Given the description of an element on the screen output the (x, y) to click on. 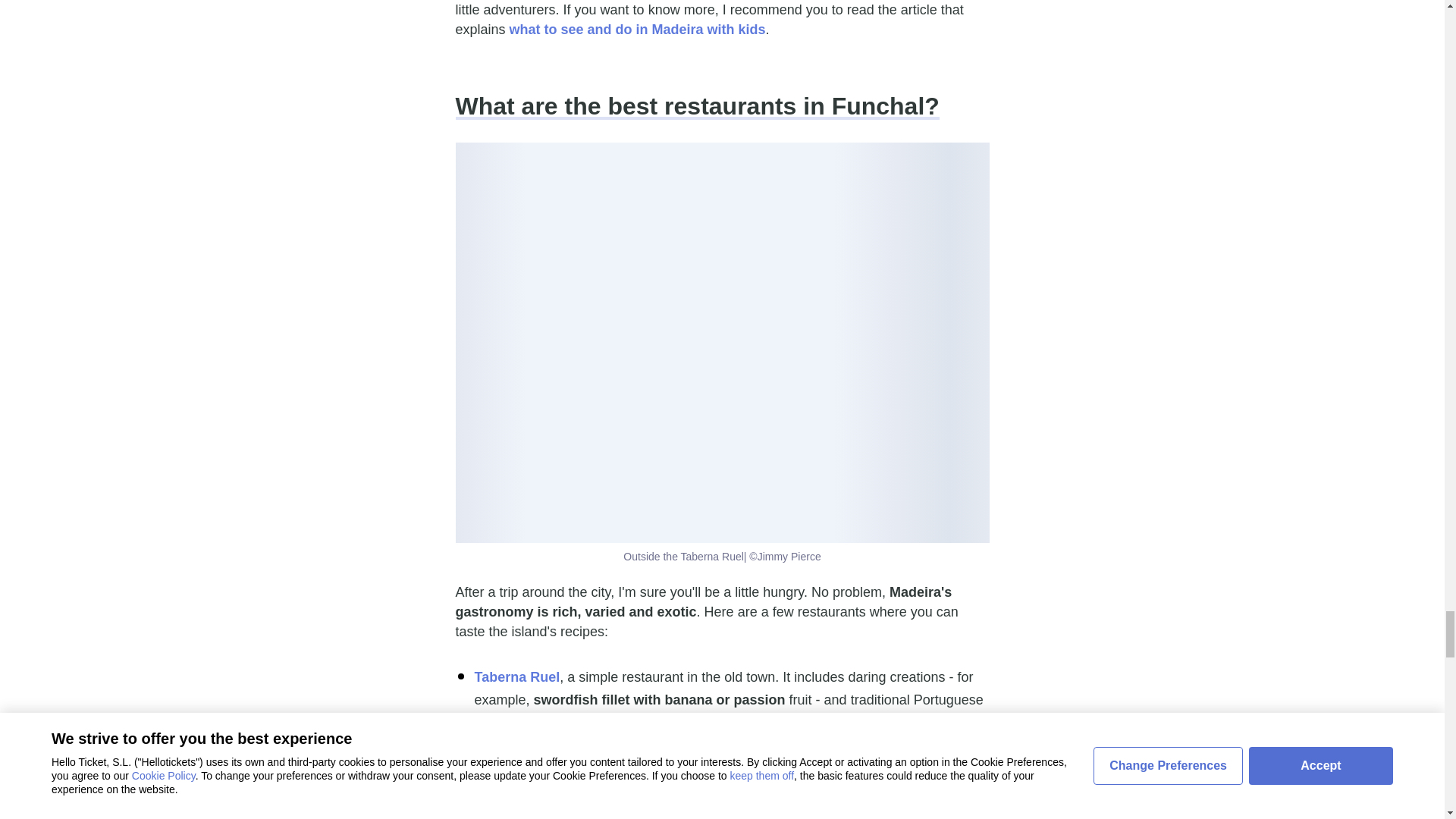
Taberna Ruel (517, 676)
what to see and do in Madeira with kids (637, 29)
O Celeiro (504, 751)
